Given the description of an element on the screen output the (x, y) to click on. 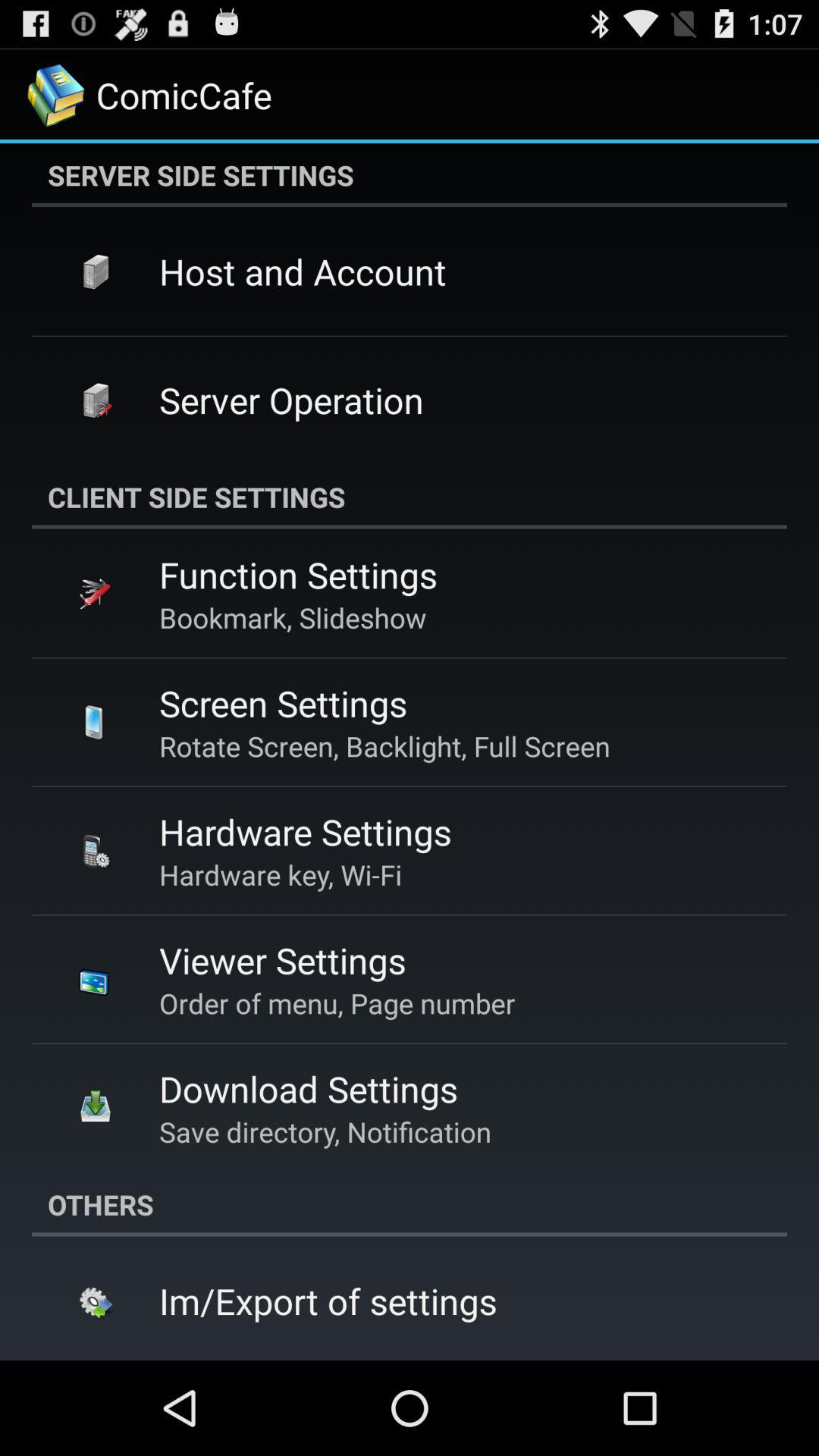
click icon below download settings item (325, 1131)
